Given the description of an element on the screen output the (x, y) to click on. 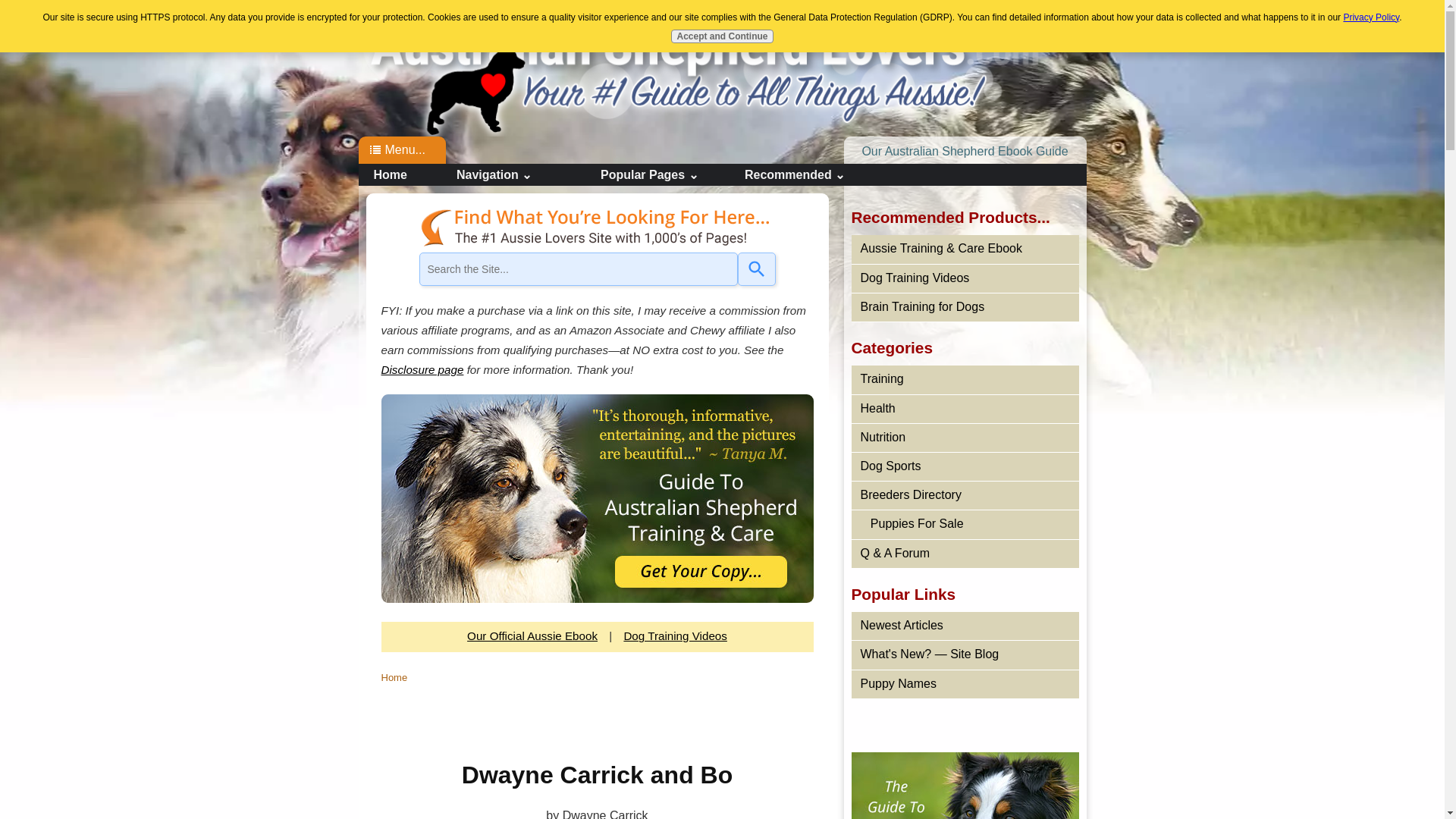
  Home (668, 66)
Menu... (405, 149)
Home (668, 66)
Our Australian Shepherd Ebook Guide (964, 151)
Home          (403, 174)
